Given the description of an element on the screen output the (x, y) to click on. 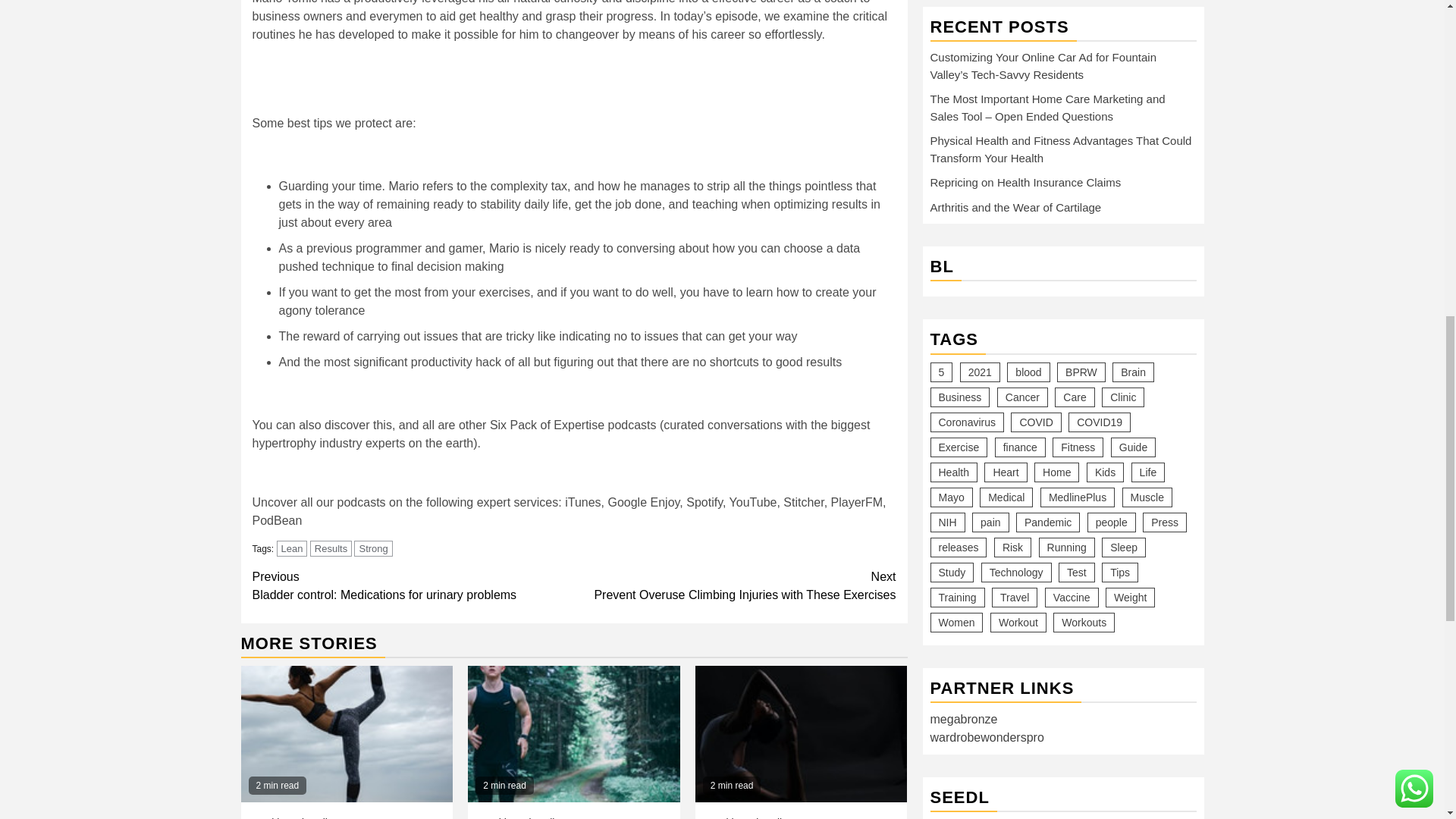
Lean (291, 548)
Strong (372, 548)
Health And Wellness (300, 816)
Results (331, 548)
Relation Between Solitude, Loneliness and Meditation (412, 586)
Health And Wellness (801, 733)
Easy Meditation Techniques (527, 816)
Health And Wellness (573, 733)
